Given the description of an element on the screen output the (x, y) to click on. 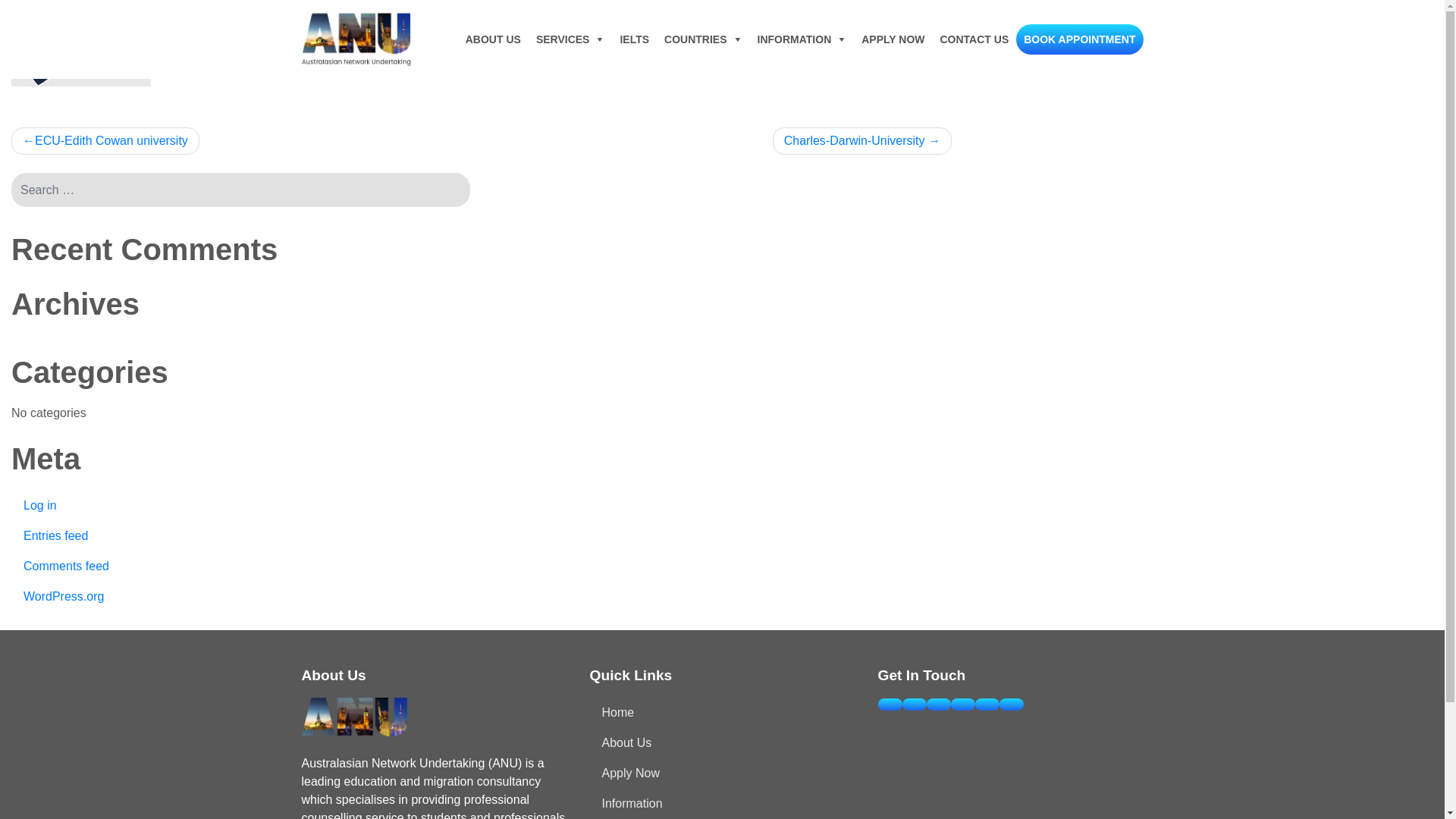
Skip to content Element type: text (0, 0)
SERVICES Element type: text (570, 39)
Home Element type: text (722, 712)
APPLY NOW Element type: text (892, 39)
INFORMATION Element type: text (801, 39)
CONTACT US Element type: text (974, 39)
Search Element type: text (75, 13)
WordPress.org Element type: text (240, 596)
Log in Element type: text (240, 505)
Comments feed Element type: text (240, 566)
Search for: Element type: hover (240, 189)
Entries feed Element type: text (240, 535)
Charles-Darwin-University Element type: text (861, 140)
BOOK APPOINTMENT Element type: text (1079, 39)
IELTS Element type: text (633, 39)
ABOUT US Element type: text (493, 39)
About Us Element type: text (722, 743)
COUNTRIES Element type: text (702, 39)
ECU-Edith Cowan university Element type: text (105, 140)
Apply Now Element type: text (722, 773)
